Given the description of an element on the screen output the (x, y) to click on. 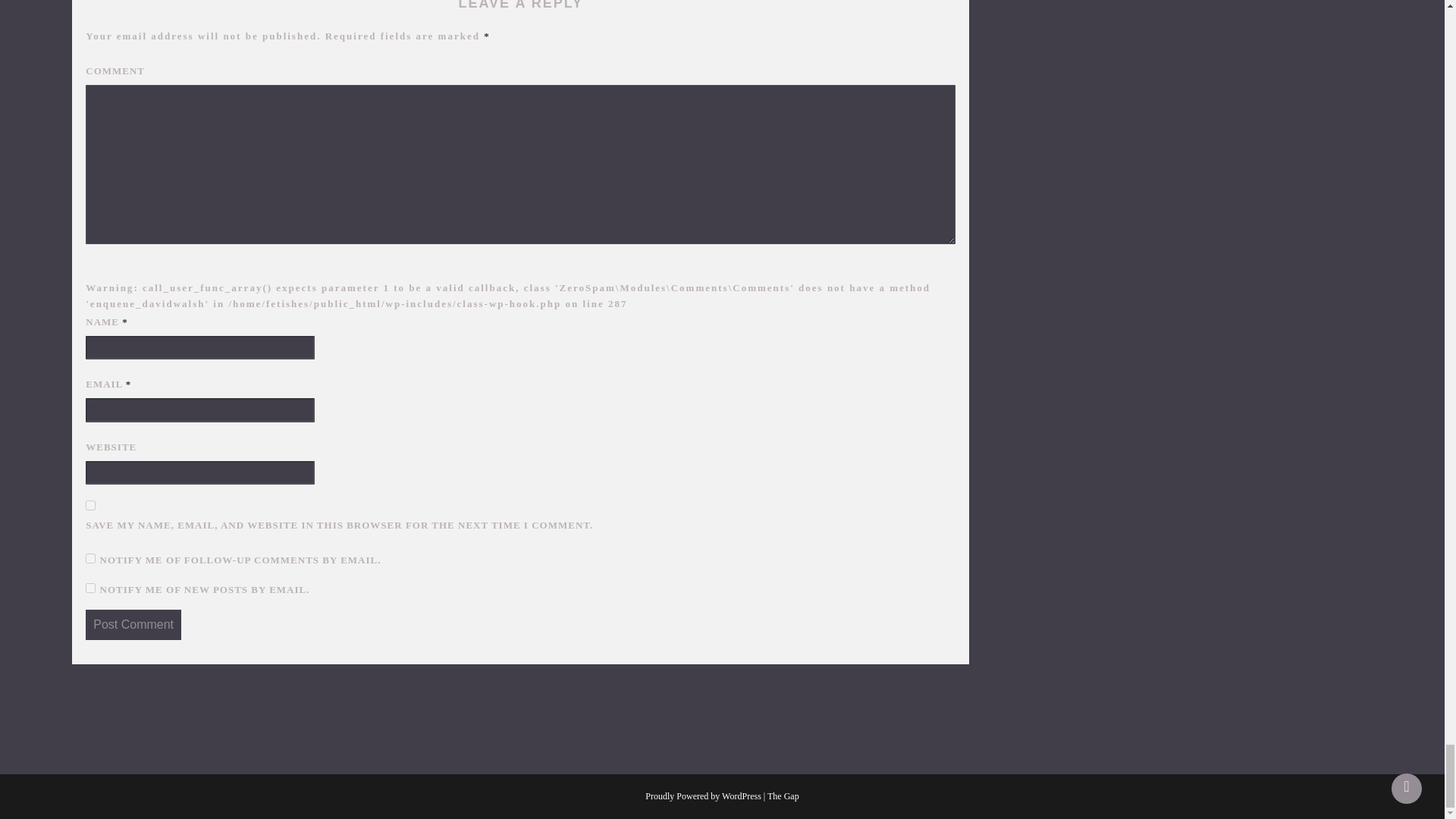
yes (90, 505)
Post Comment (132, 624)
subscribe (90, 558)
subscribe (90, 587)
